Given the description of an element on the screen output the (x, y) to click on. 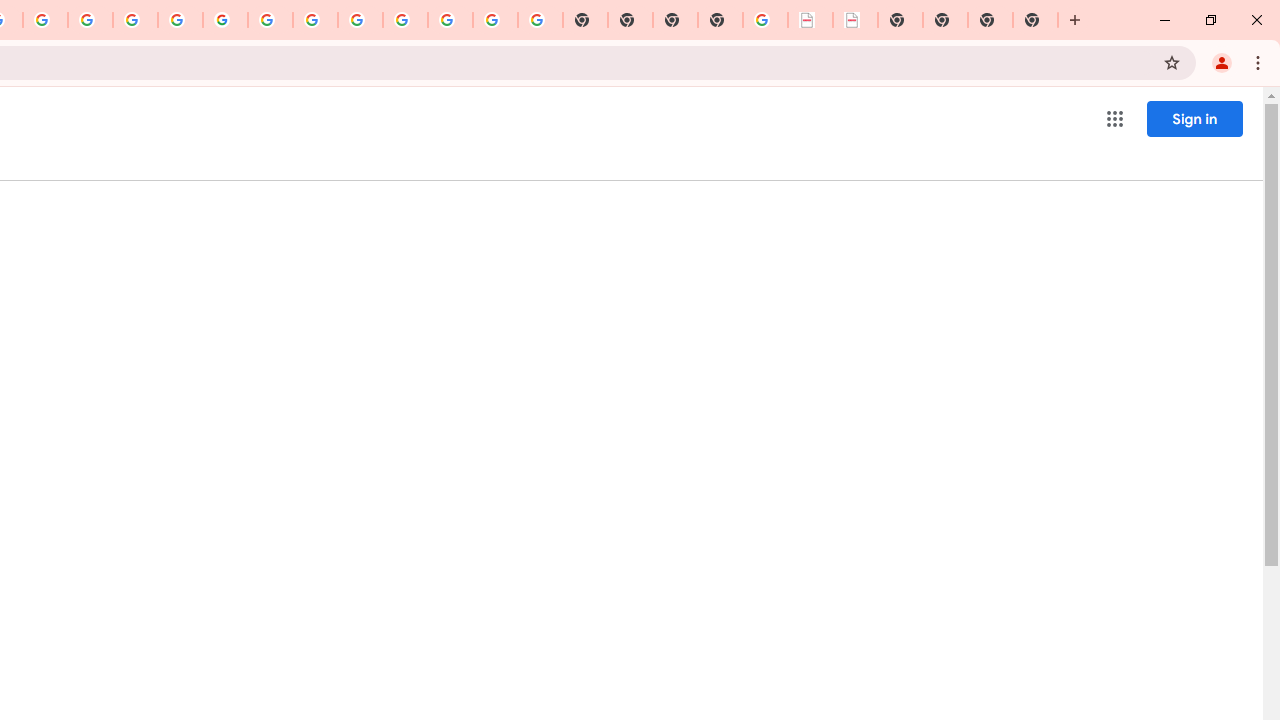
Google Images (540, 20)
Privacy Help Center - Policies Help (134, 20)
Privacy Help Center - Policies Help (89, 20)
Browse Chrome as a guest - Computer - Google Chrome Help (315, 20)
BAE Systems Brasil | BAE Systems (855, 20)
YouTube (270, 20)
